Given the description of an element on the screen output the (x, y) to click on. 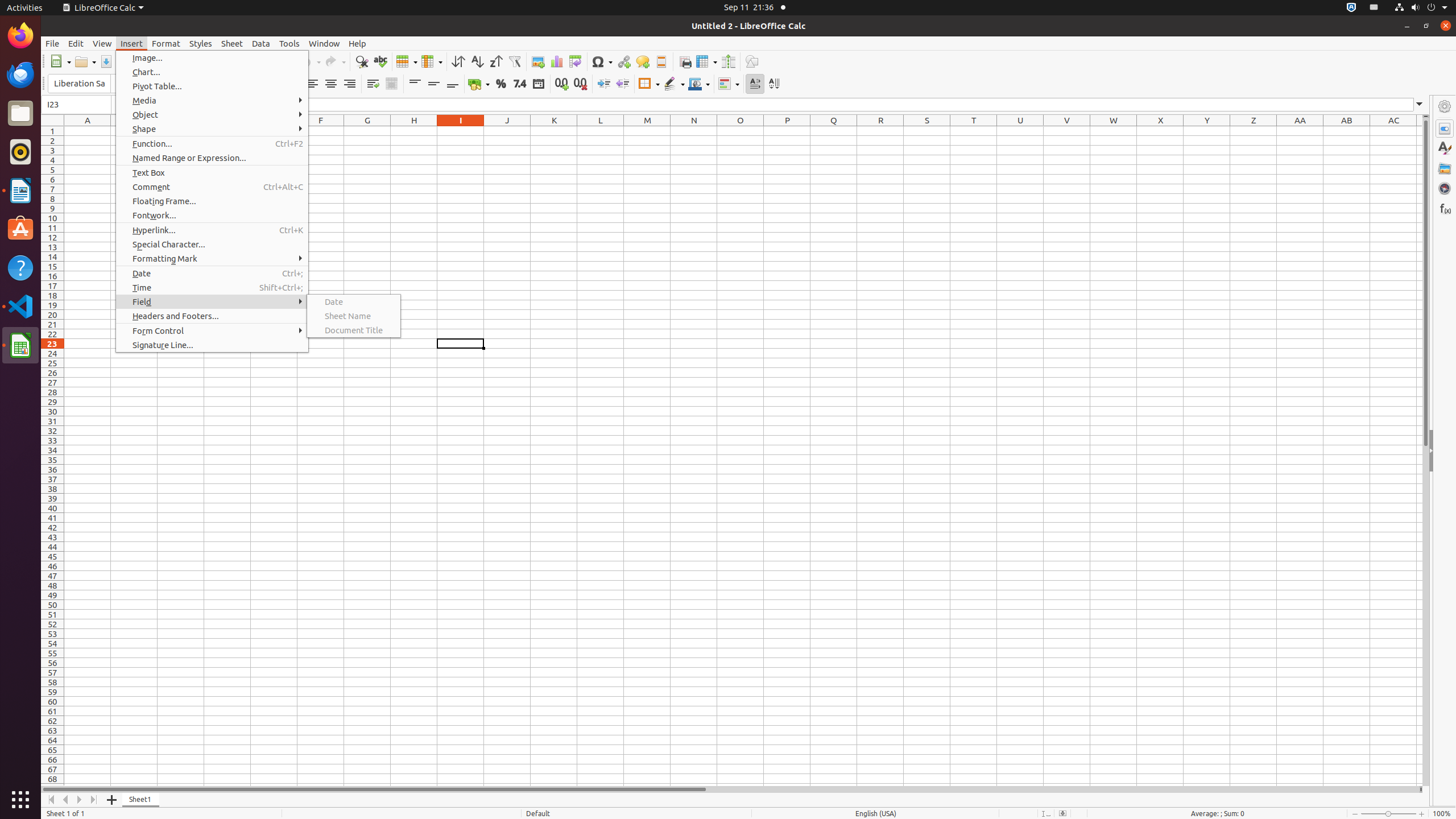
Find & Replace Element type: toggle-button (361, 61)
Horizontal scroll bar Element type: scroll-bar (729, 789)
Trash Element type: label (75, 108)
Insert Element type: menu (131, 43)
Split Window Element type: push-button (727, 61)
